Given the description of an element on the screen output the (x, y) to click on. 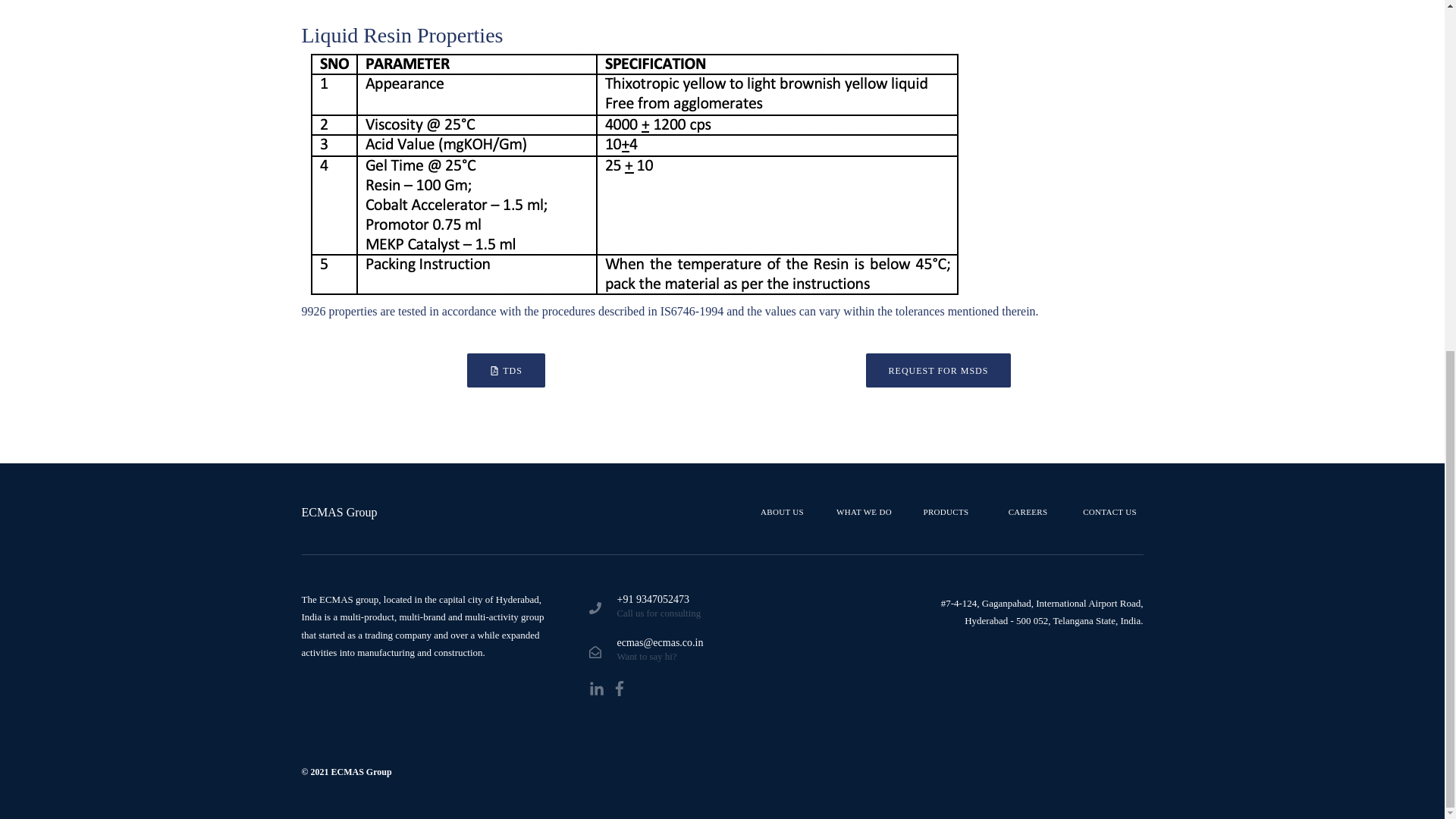
ABOUT US (782, 512)
CONTACT US (1109, 512)
TDS (505, 369)
REQUEST FOR MSDS (938, 369)
PRODUCTS (945, 512)
WHAT WE DO (864, 512)
CAREERS (1027, 512)
